Given the description of an element on the screen output the (x, y) to click on. 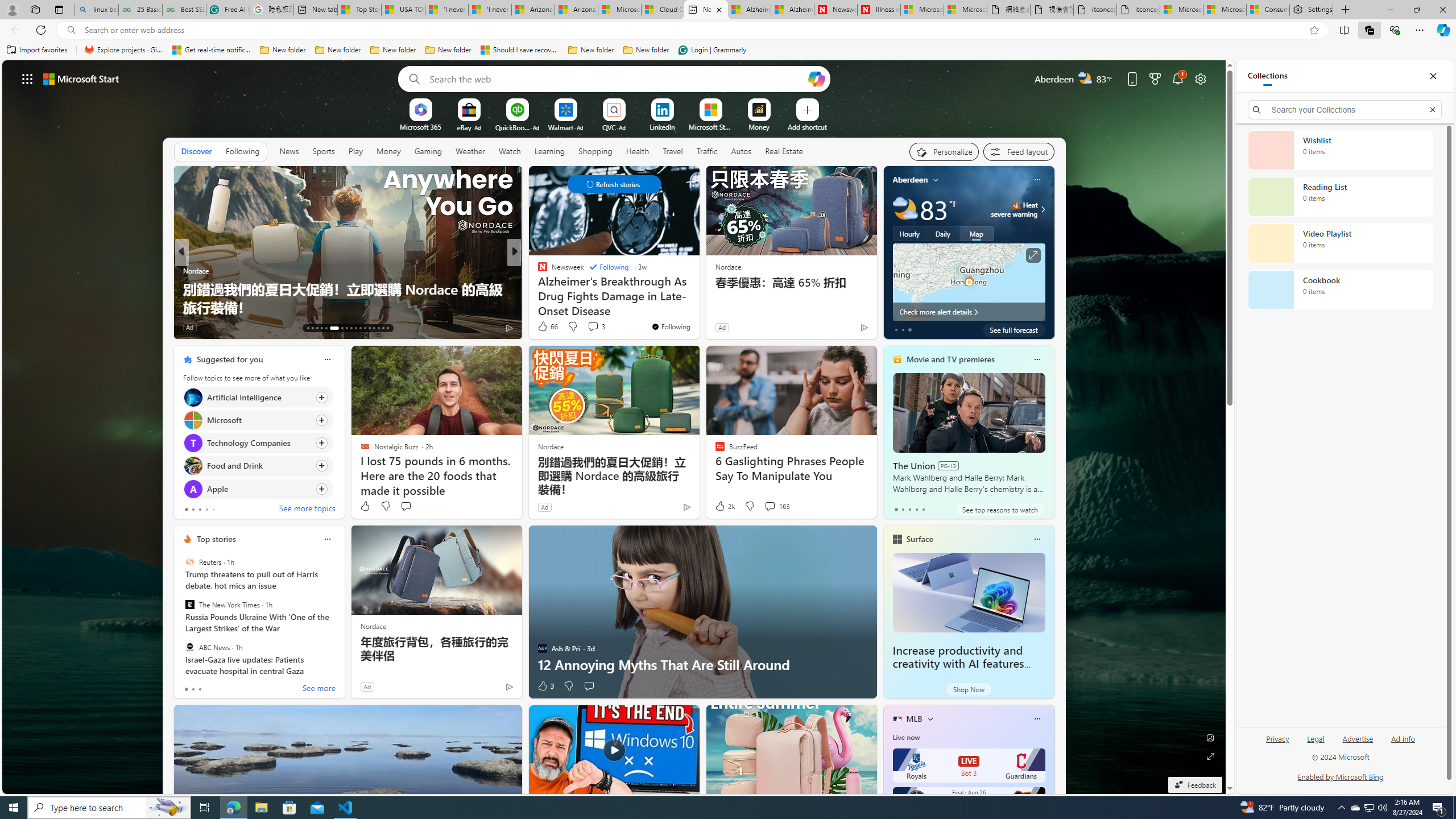
oceanbluemarine (558, 288)
34 Like (543, 327)
2k Like (724, 505)
Class: control (613, 184)
Map (975, 233)
Hide this story (664, 179)
Health (637, 151)
Should I save recovered Word documents? - Microsoft Support (519, 49)
AutomationID: tab-28 (382, 328)
Shape (537, 288)
Surface (919, 538)
